Given the description of an element on the screen output the (x, y) to click on. 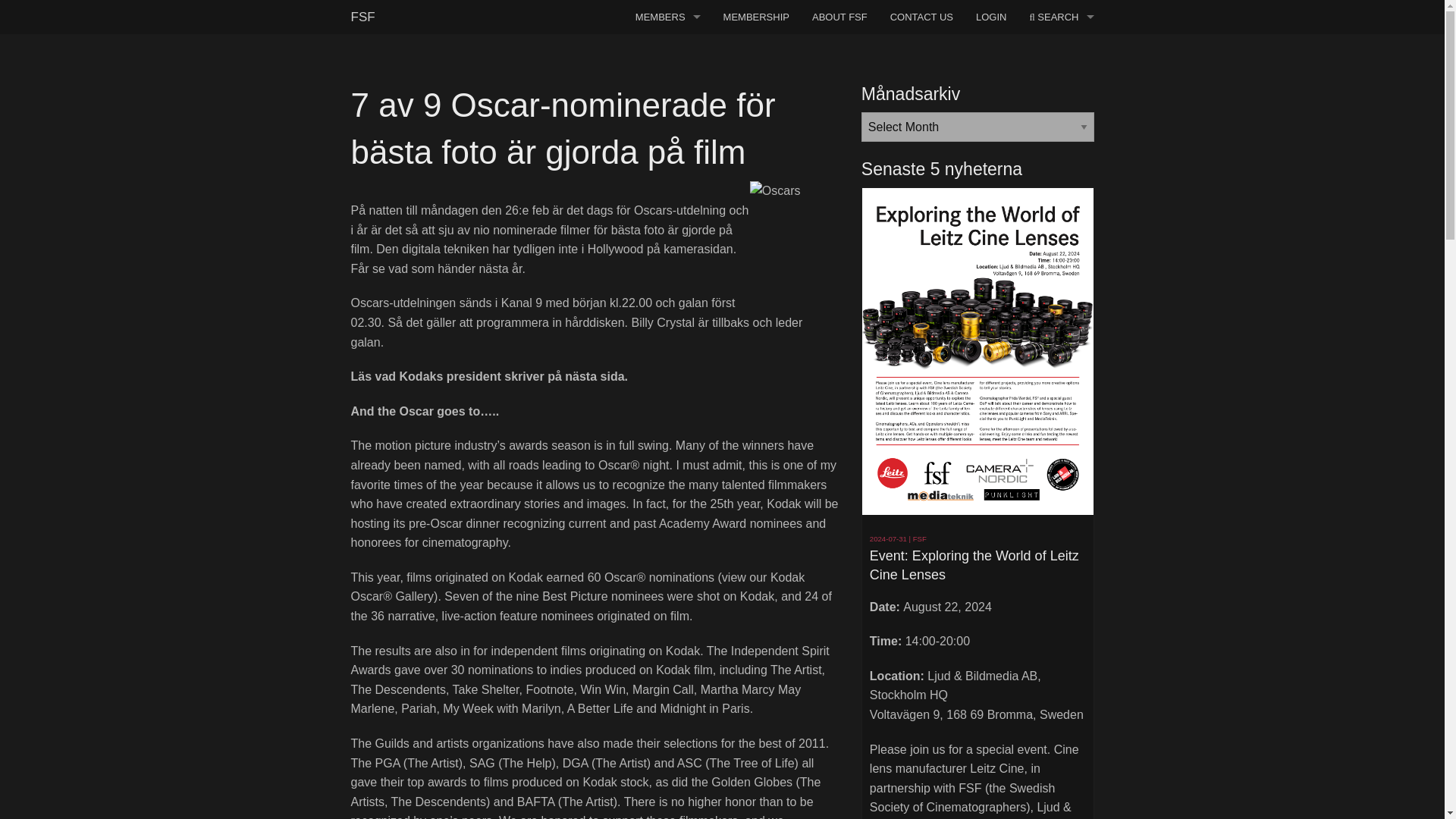
SEARCH (1061, 17)
ASSOCIATED CINEMATOGRAPHERS (667, 84)
FSF (363, 17)
MEMBERS (667, 17)
LOGIN (990, 17)
DIRECTORS OF PHOTOGRAPHY (667, 50)
Search FSF... (964, 56)
ABOUT FSF (839, 17)
ASSOCIATED MEMBERS (667, 119)
CONTACT US (921, 17)
